Given the description of an element on the screen output the (x, y) to click on. 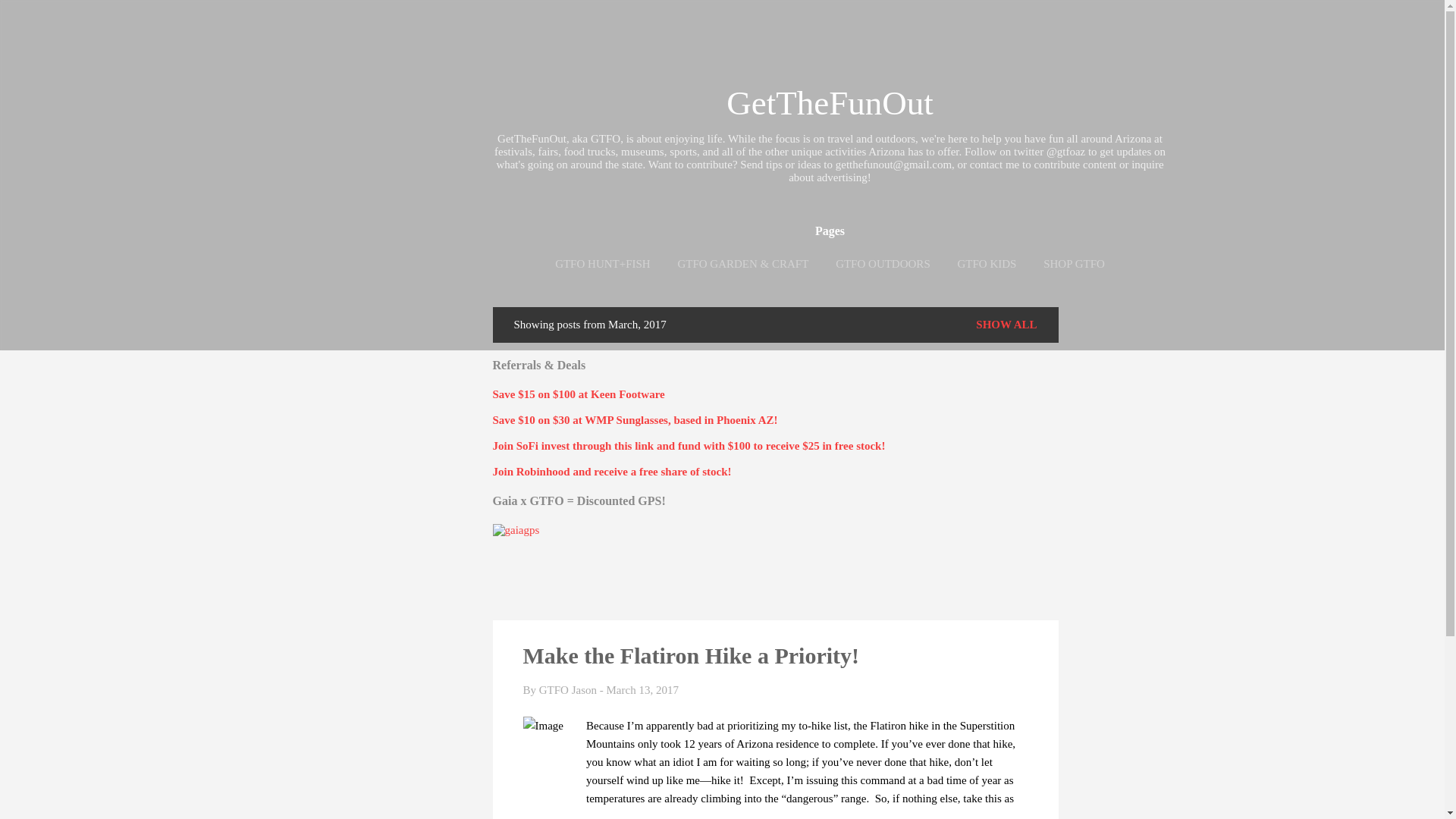
permanent link (642, 689)
SHOW ALL (1005, 324)
Search (29, 18)
GTFO OUTDOORS (882, 264)
SHOP GTFO (1073, 264)
GTFO KIDS (986, 264)
GEAR TO GTFO (829, 296)
GetTheFunOut (829, 103)
Make the Flatiron Hike a Priority! (691, 655)
March 13, 2017 (642, 689)
